Given the description of an element on the screen output the (x, y) to click on. 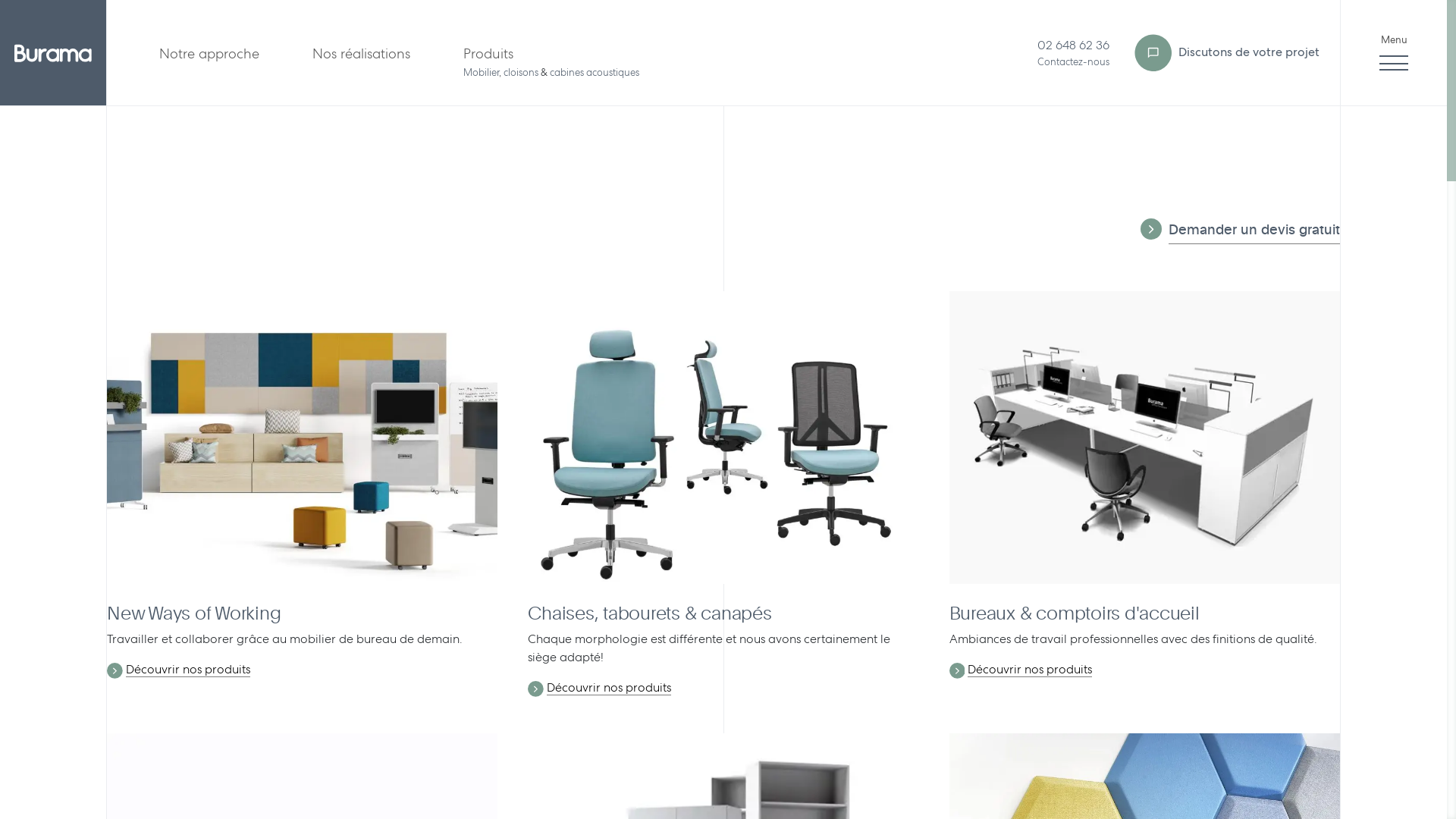
cloisons Element type: text (520, 71)
Produits Element type: text (488, 52)
cabines acoustiques Element type: text (594, 71)
02 648 62 36 Element type: text (1073, 45)
Notre approche Element type: text (209, 52)
Contactez-nous Element type: text (1073, 61)
Menu Element type: text (1393, 53)
Demander un devis gratuit Element type: text (1253, 231)
Discutons de votre projet Element type: text (1224, 52)
Mobilier Element type: text (480, 71)
